Given the description of an element on the screen output the (x, y) to click on. 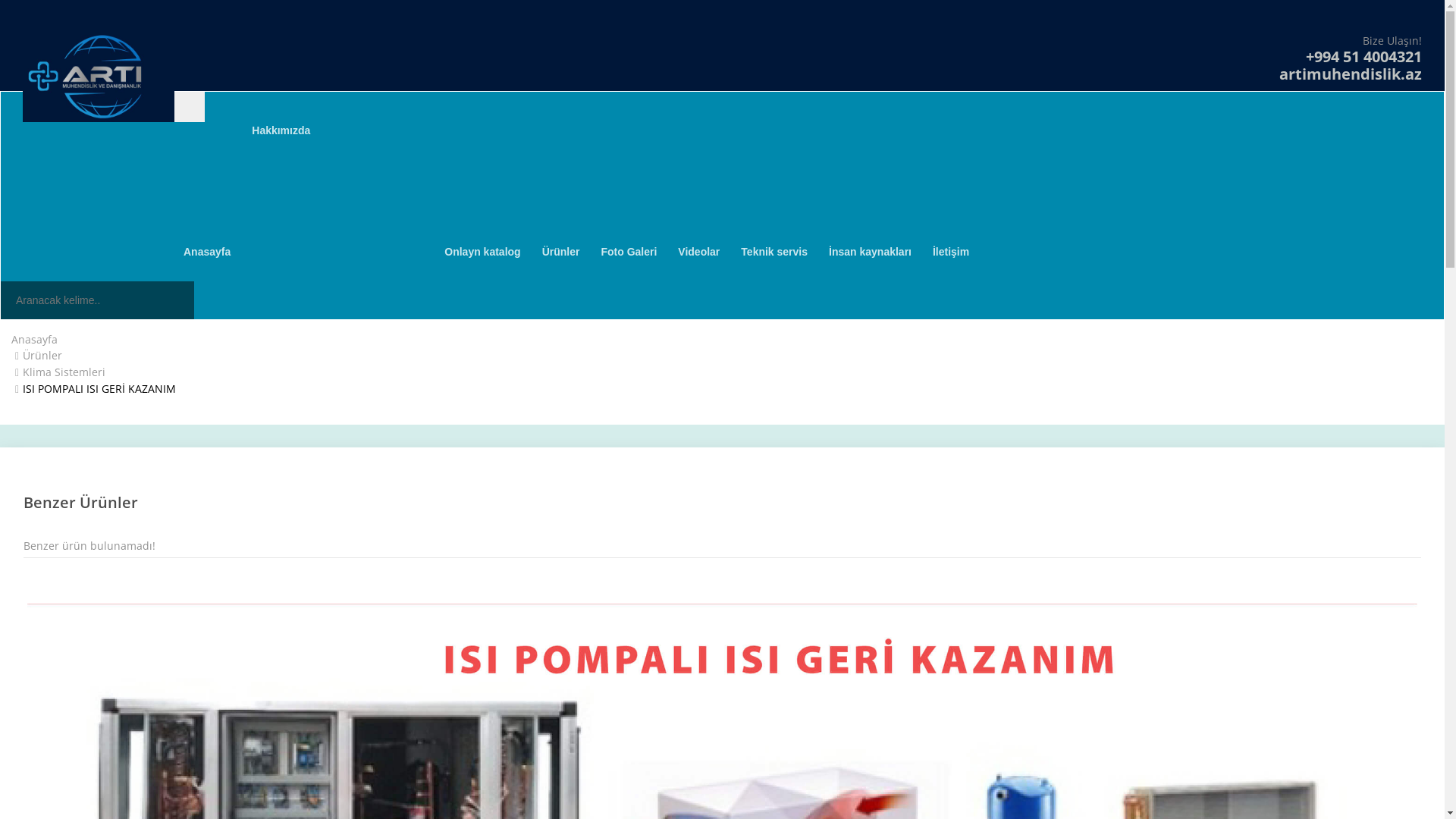
Videolar Element type: text (698, 251)
Anasayfa Element type: text (206, 251)
Foto Galeri Element type: text (628, 251)
Steellex Element type: hover (98, 76)
Onlayn katalog Element type: text (482, 251)
Klima Sistemleri Element type: text (63, 371)
artimuhendislik.az Element type: text (1350, 73)
Teknik servis Element type: text (773, 251)
Anasayfa Element type: text (34, 339)
